Given the description of an element on the screen output the (x, y) to click on. 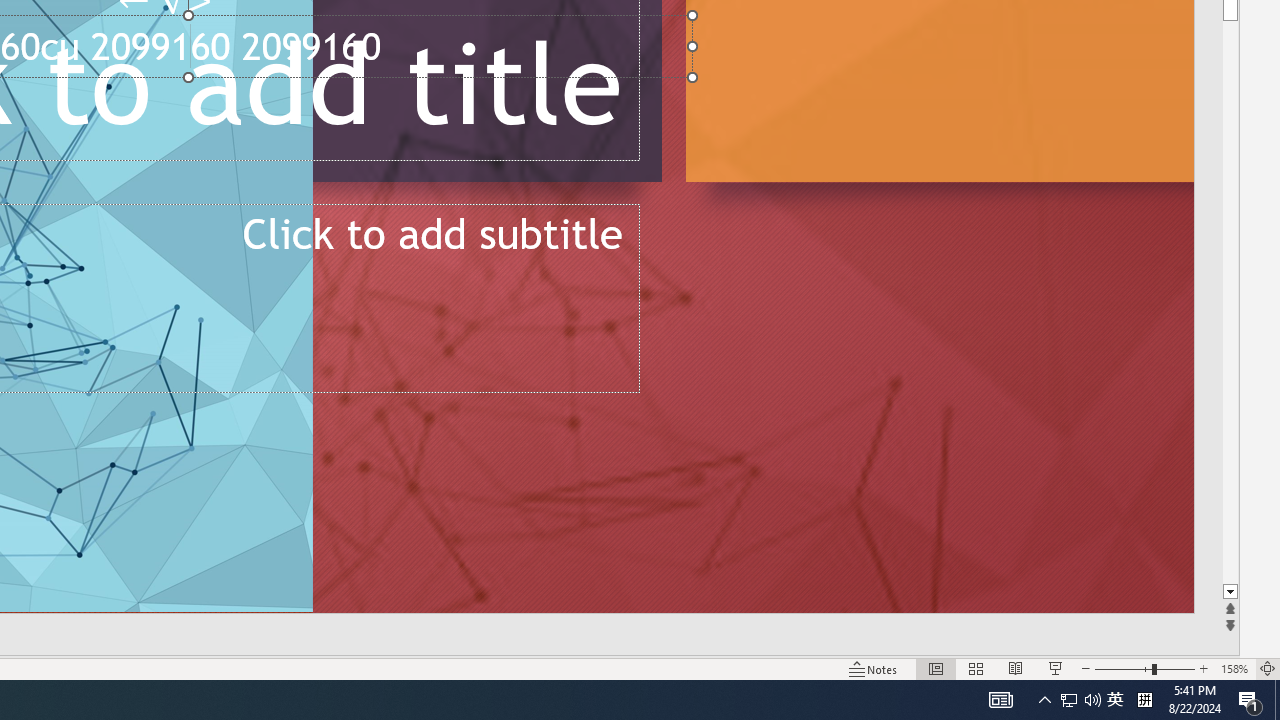
Zoom 158% (1234, 668)
